Given the description of an element on the screen output the (x, y) to click on. 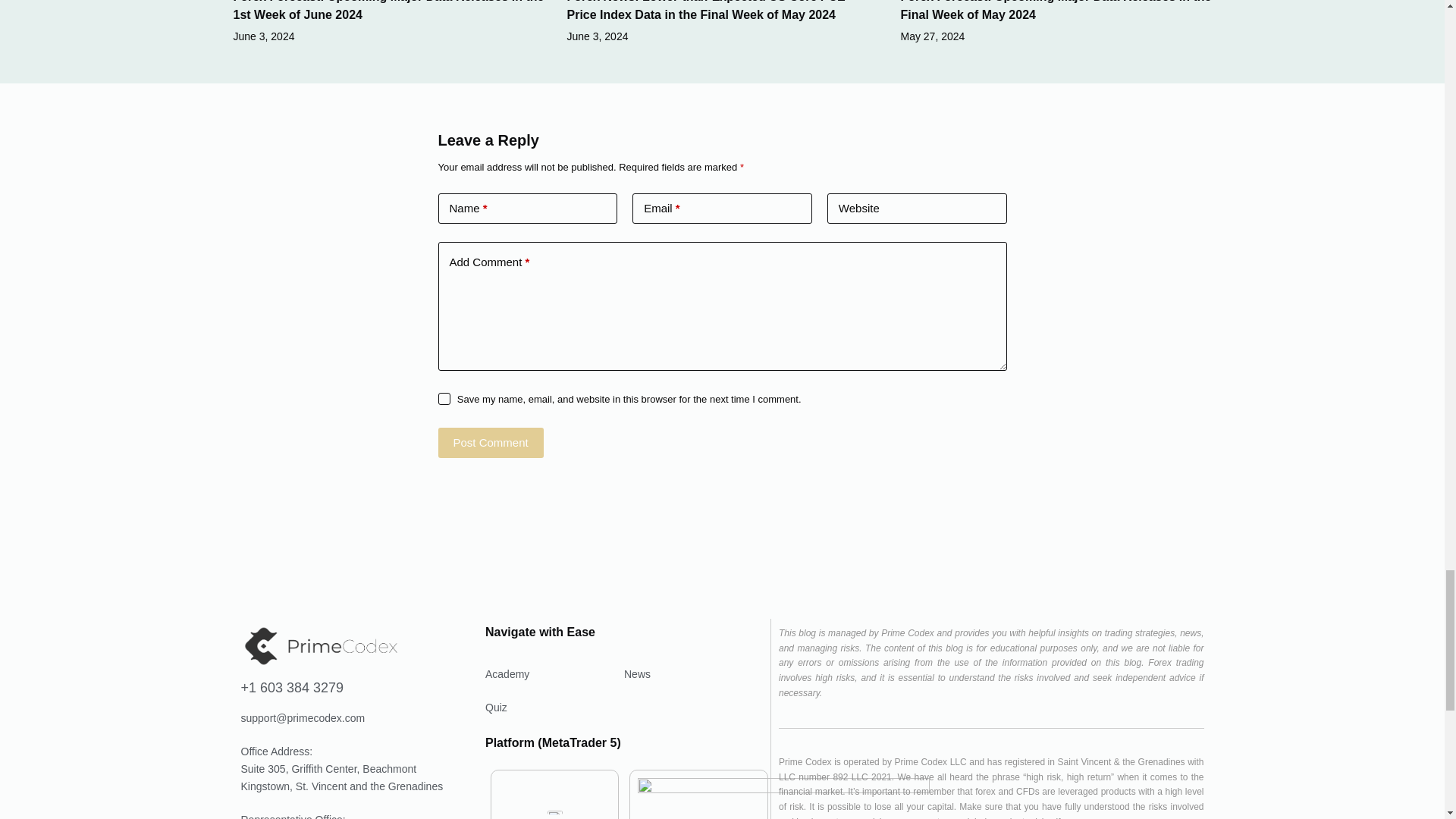
yes (443, 398)
